Given the description of an element on the screen output the (x, y) to click on. 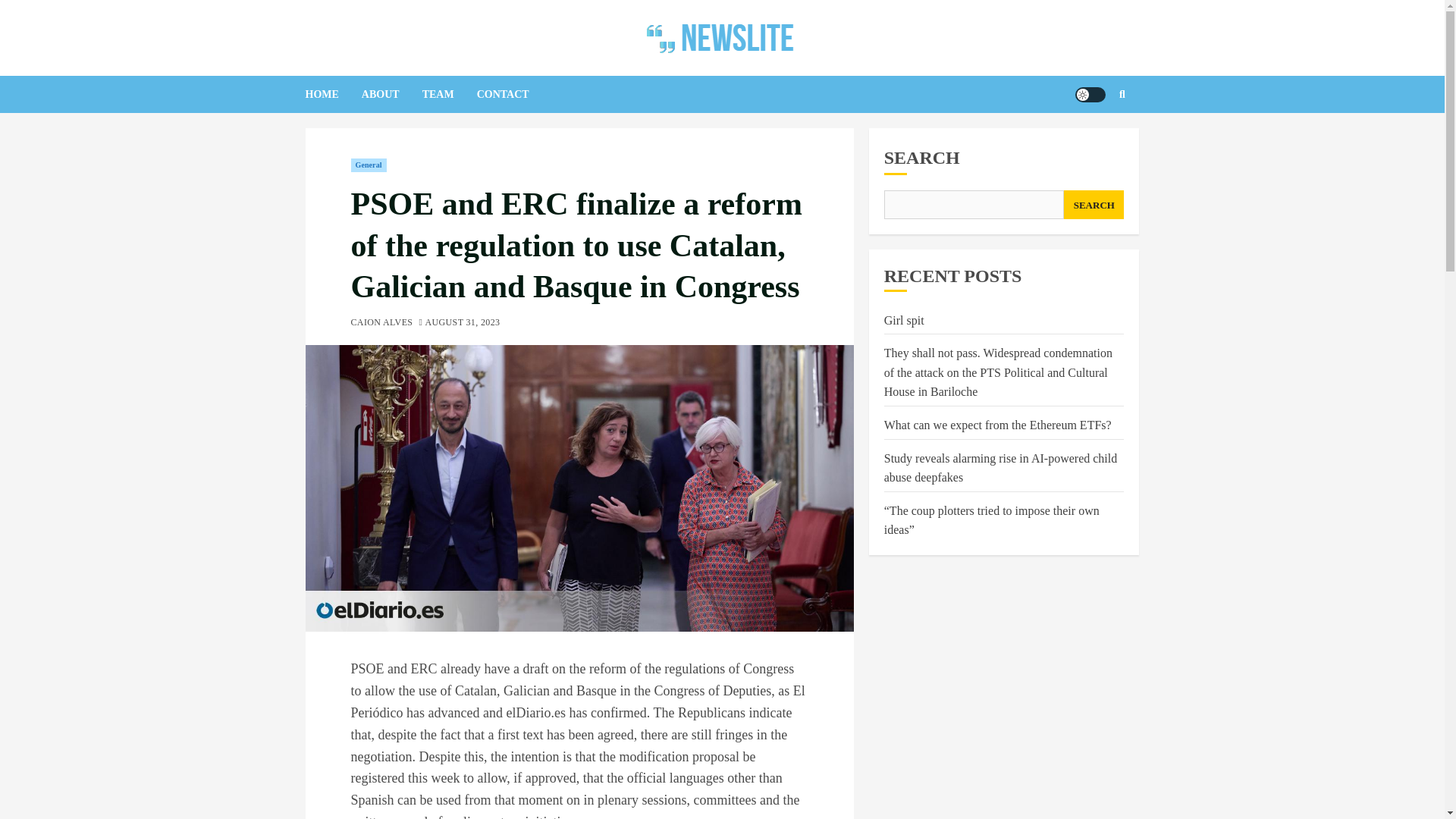
ABOUT (391, 94)
What can we expect from the Ethereum ETFs? (997, 425)
CONTACT (514, 94)
HOME (332, 94)
SEARCH (1094, 204)
AUGUST 31, 2023 (462, 323)
Girl spit (903, 320)
CAION ALVES (381, 323)
TEAM (449, 94)
Search (1092, 140)
Search (1122, 94)
General (367, 164)
